Given the description of an element on the screen output the (x, y) to click on. 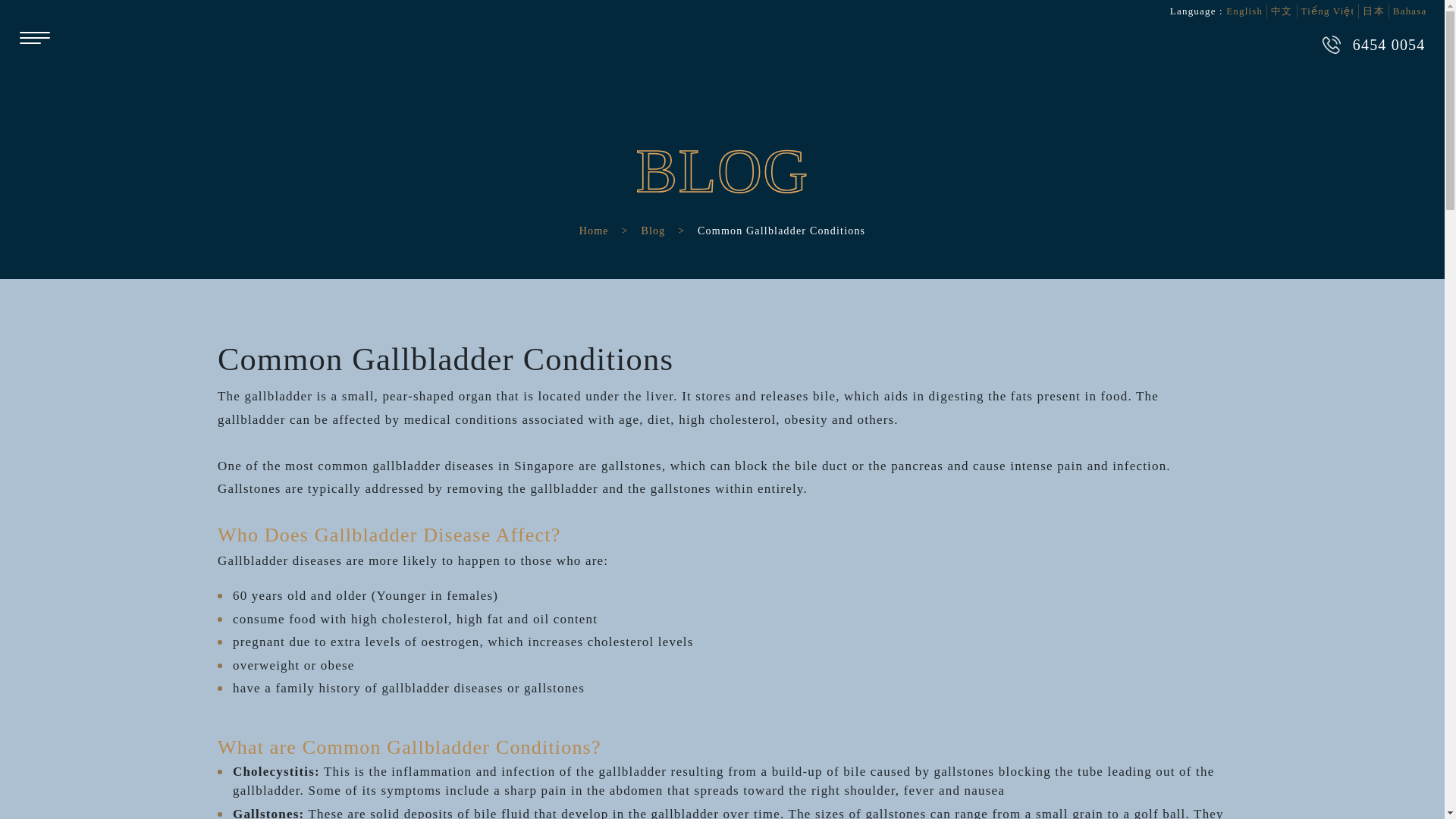
6454 0054 (1373, 44)
Blog (652, 230)
Bahasa (1409, 10)
English (1243, 10)
Gallstones: (268, 812)
Cholecystitis: (276, 771)
Surgical Associates (721, 55)
Home (593, 230)
